Given the description of an element on the screen output the (x, y) to click on. 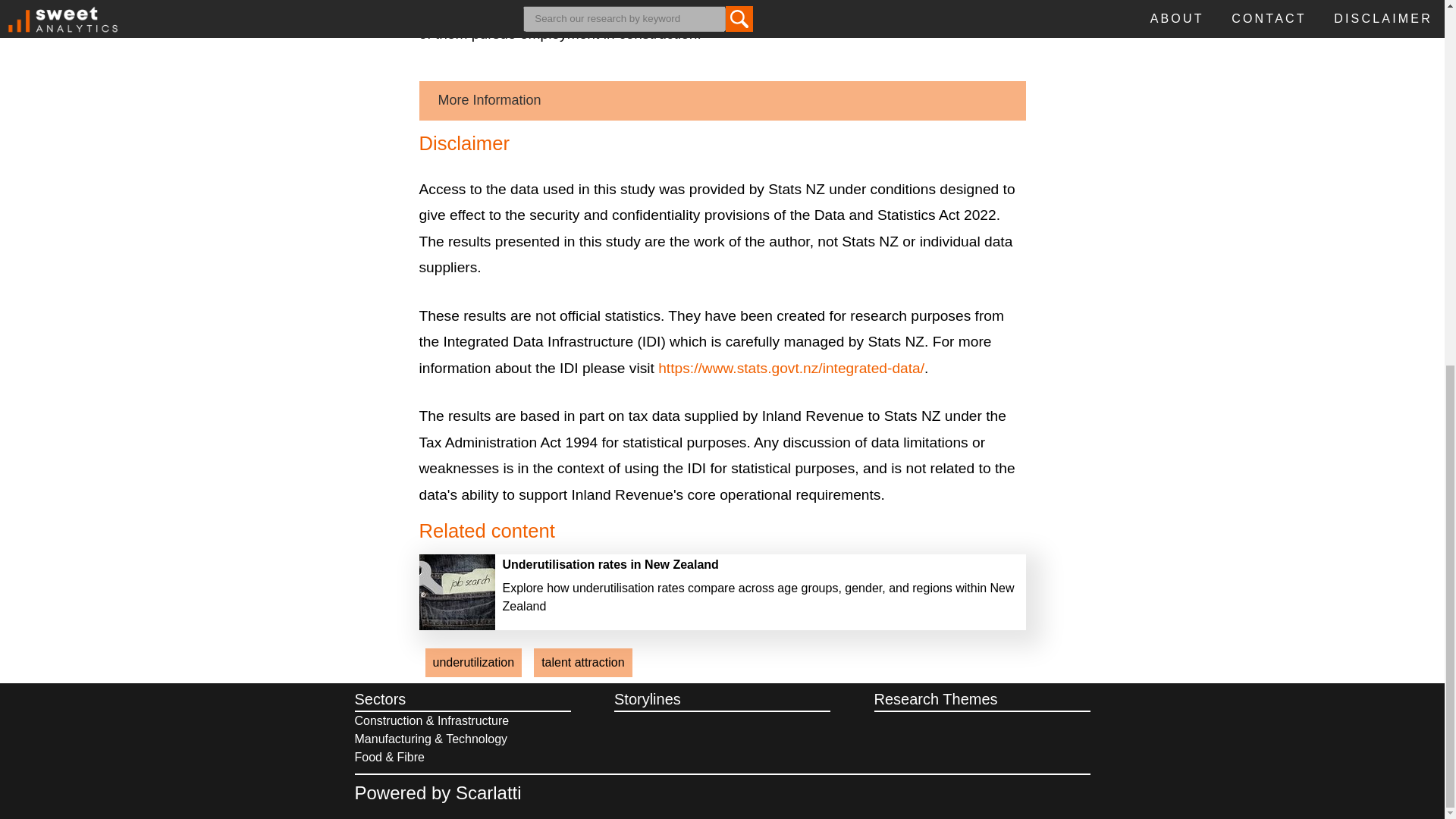
talent attraction (582, 662)
underutilization (473, 662)
Powered by Scarlatti (438, 792)
